Given the description of an element on the screen output the (x, y) to click on. 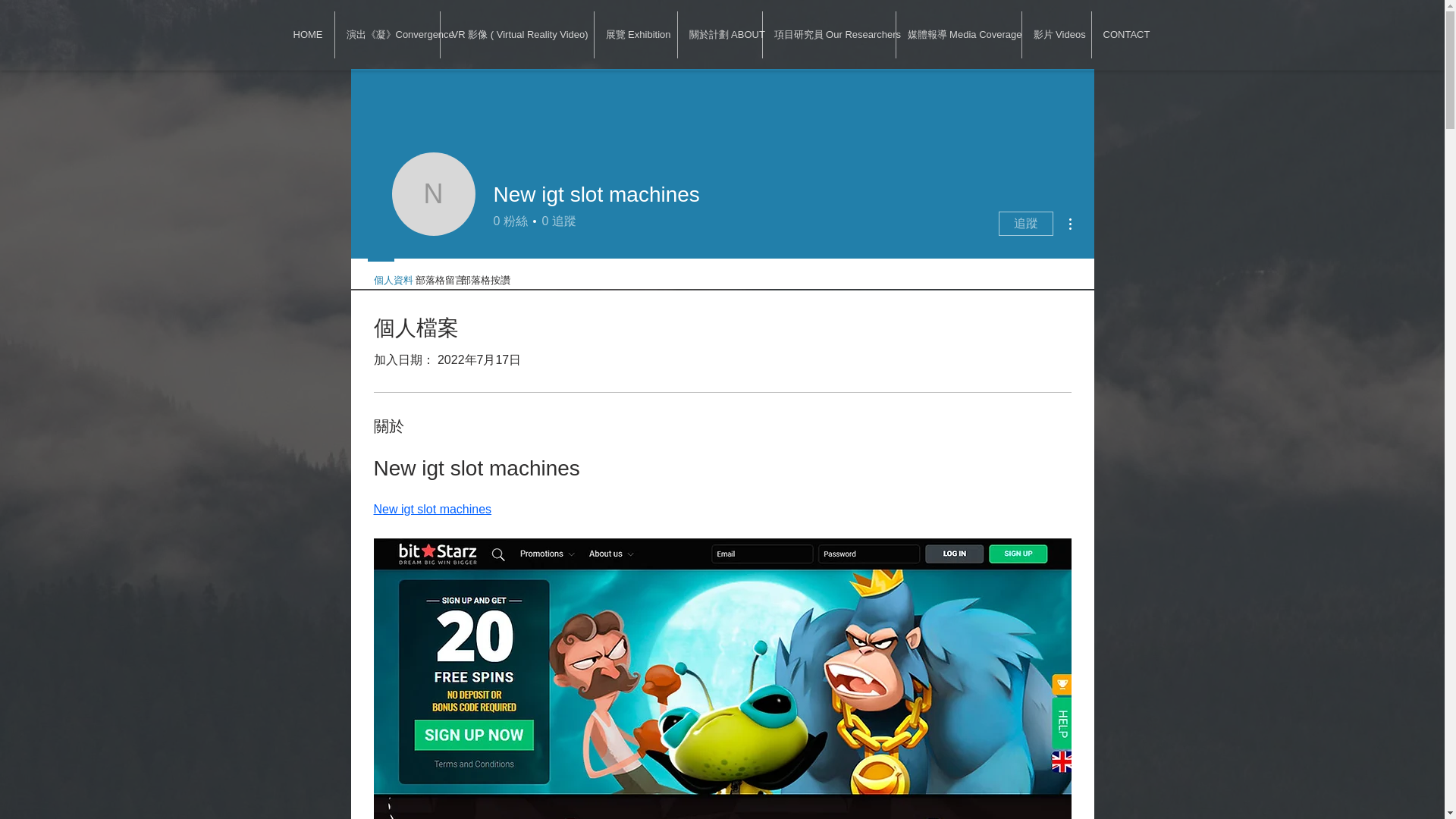
New igt slot machines (432, 193)
New igt slot machines (432, 508)
CONTACT (1126, 34)
HOME (308, 34)
